Given the description of an element on the screen output the (x, y) to click on. 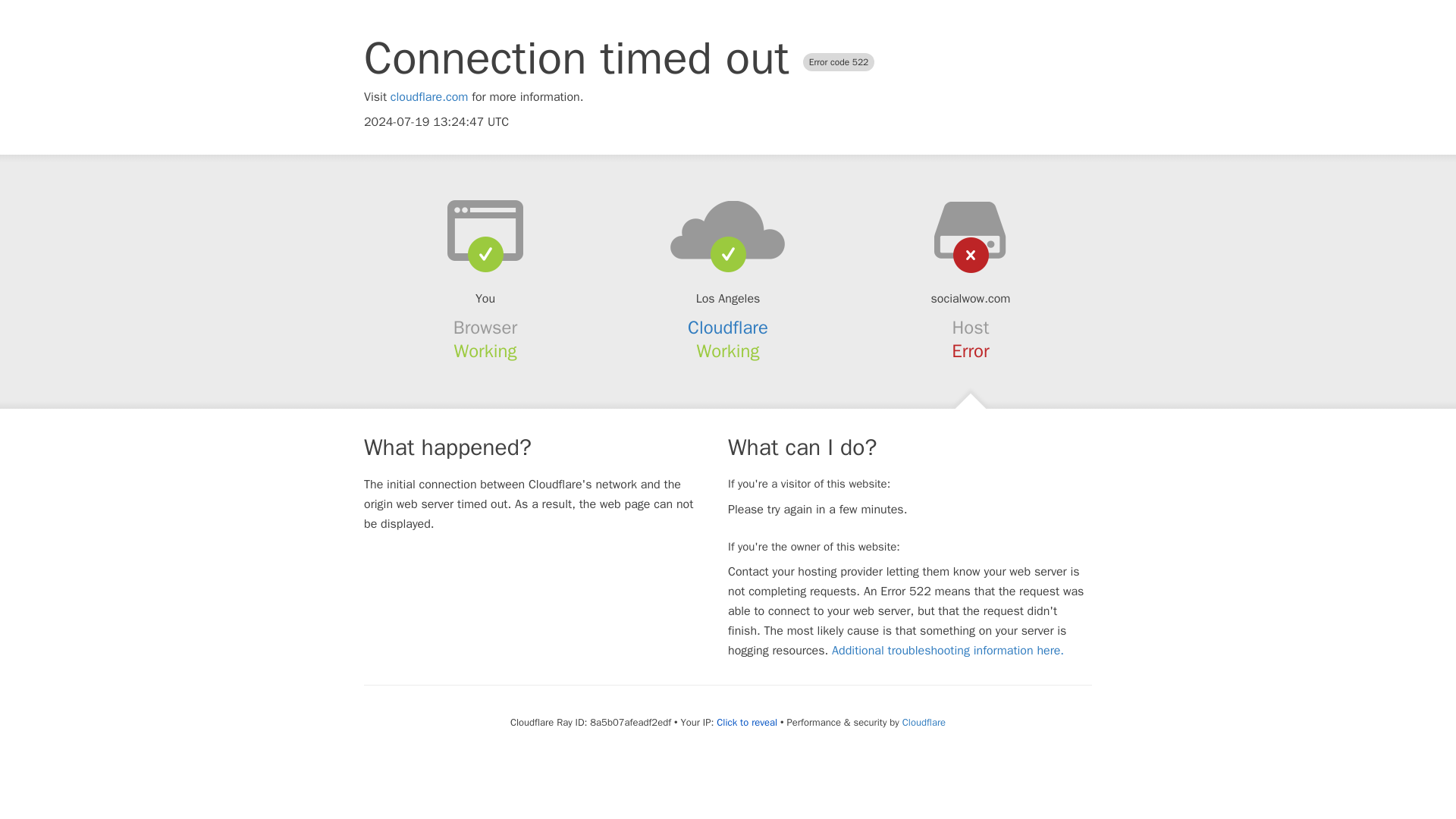
Additional troubleshooting information here. (947, 650)
Click to reveal (746, 722)
cloudflare.com (429, 96)
Cloudflare (727, 327)
Cloudflare (923, 721)
